Given the description of an element on the screen output the (x, y) to click on. 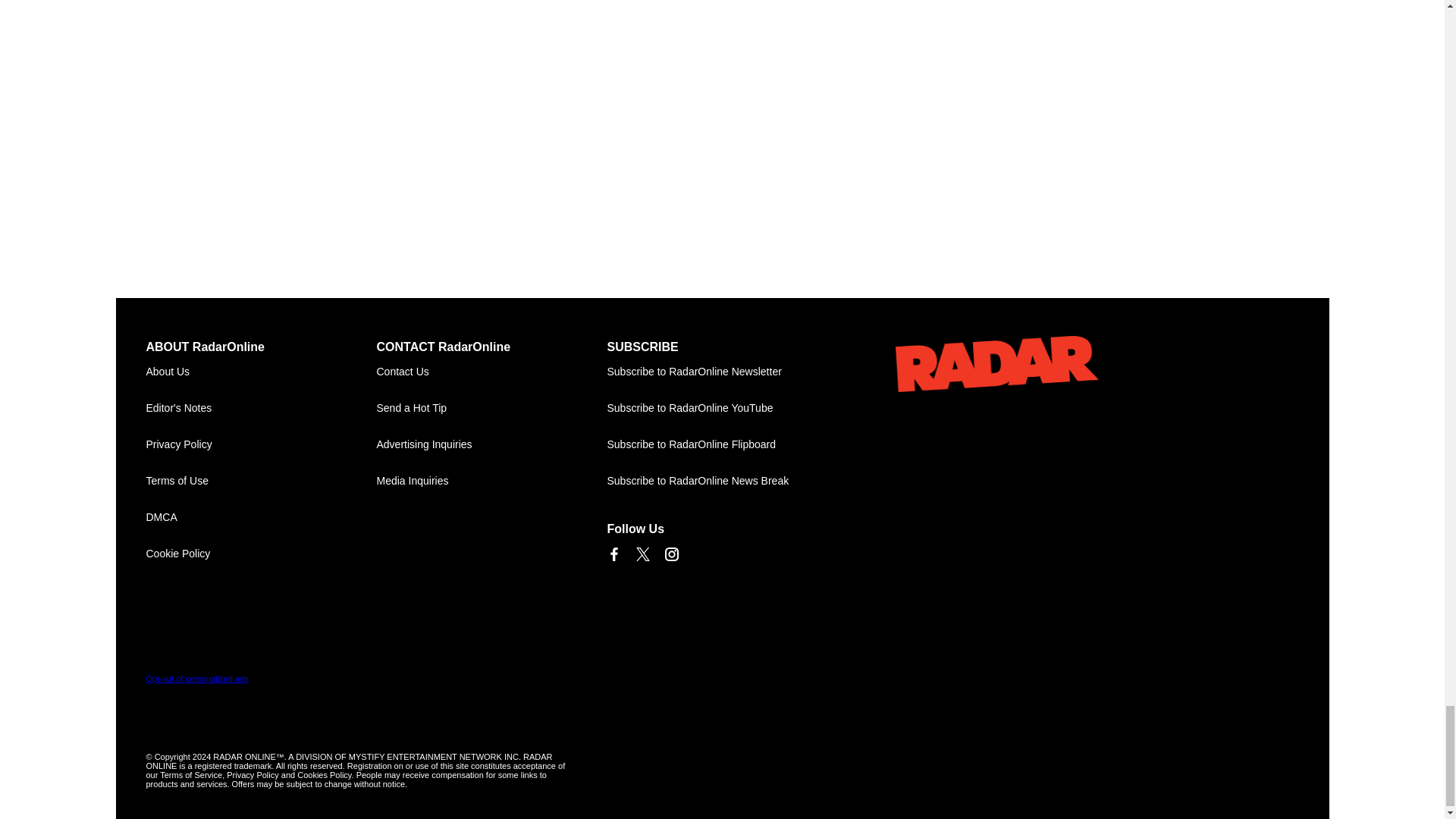
Privacy Policy (260, 444)
Media Inquiries (491, 481)
Cookie Policy (260, 554)
Cookie Policy (260, 554)
Send a Hot Tip (491, 408)
About Us (260, 371)
Link to Facebook (613, 554)
Terms of Use (260, 481)
Advertising Inquiries (491, 444)
Terms of Use (260, 481)
